Given the description of an element on the screen output the (x, y) to click on. 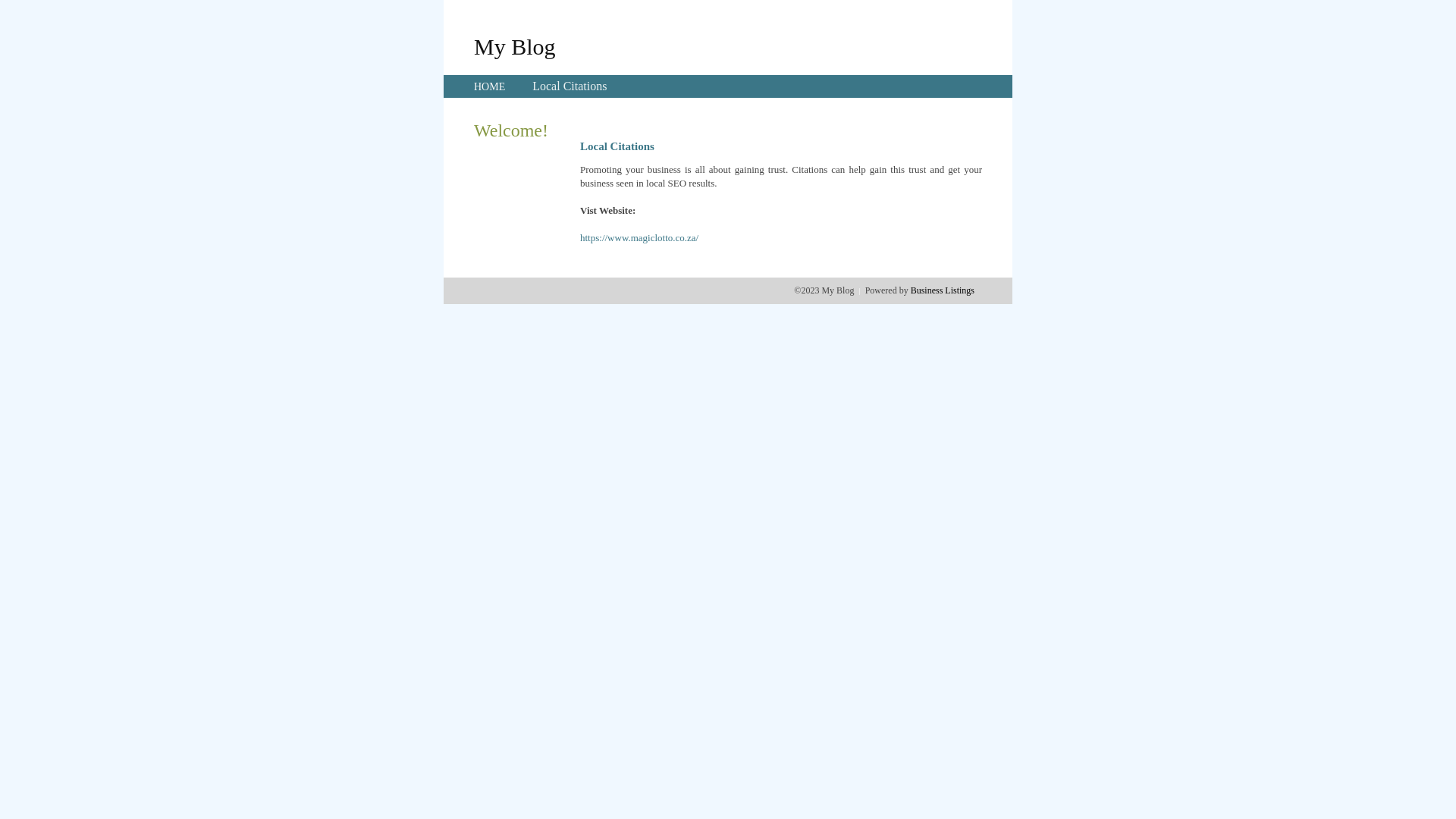
Local Citations Element type: text (569, 85)
My Blog Element type: text (514, 46)
HOME Element type: text (489, 86)
Business Listings Element type: text (942, 290)
https://www.magiclotto.co.za/ Element type: text (639, 237)
